Given the description of an element on the screen output the (x, y) to click on. 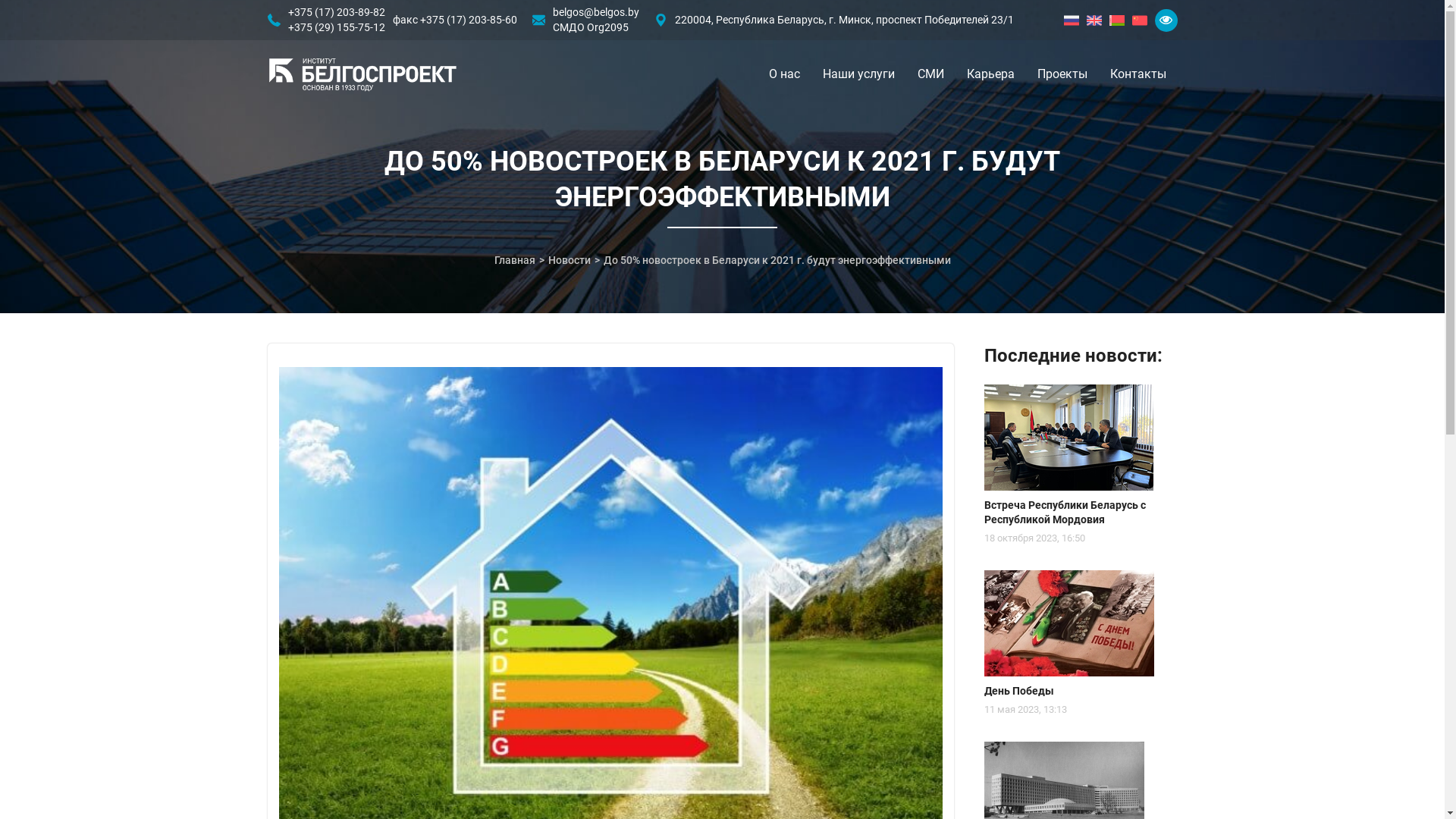
+375 (17) 203-89-82
+375 (29) 155-75-12 Element type: text (336, 19)
